Given the description of an element on the screen output the (x, y) to click on. 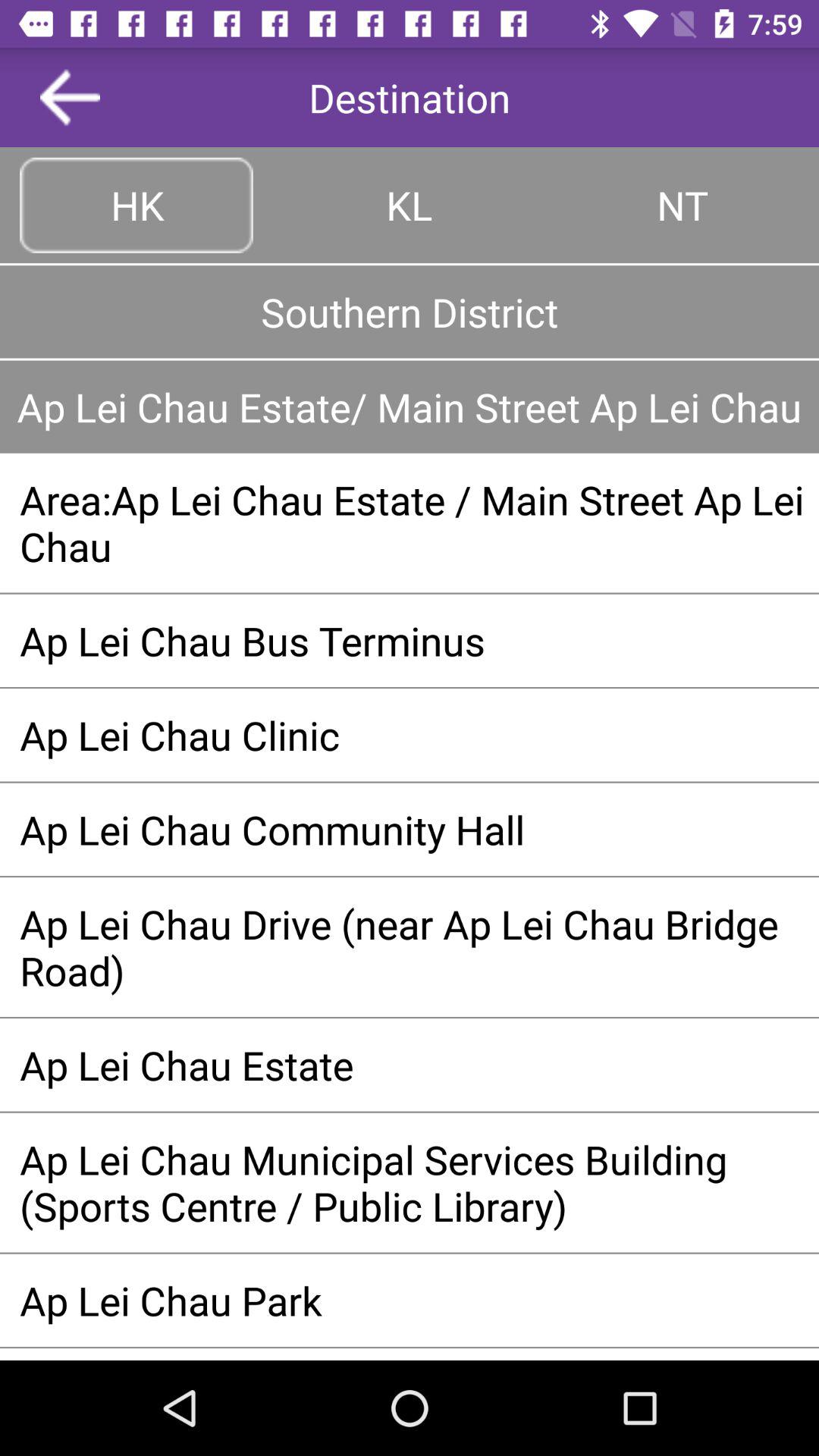
turn off app to the left of the destination app (69, 97)
